Given the description of an element on the screen output the (x, y) to click on. 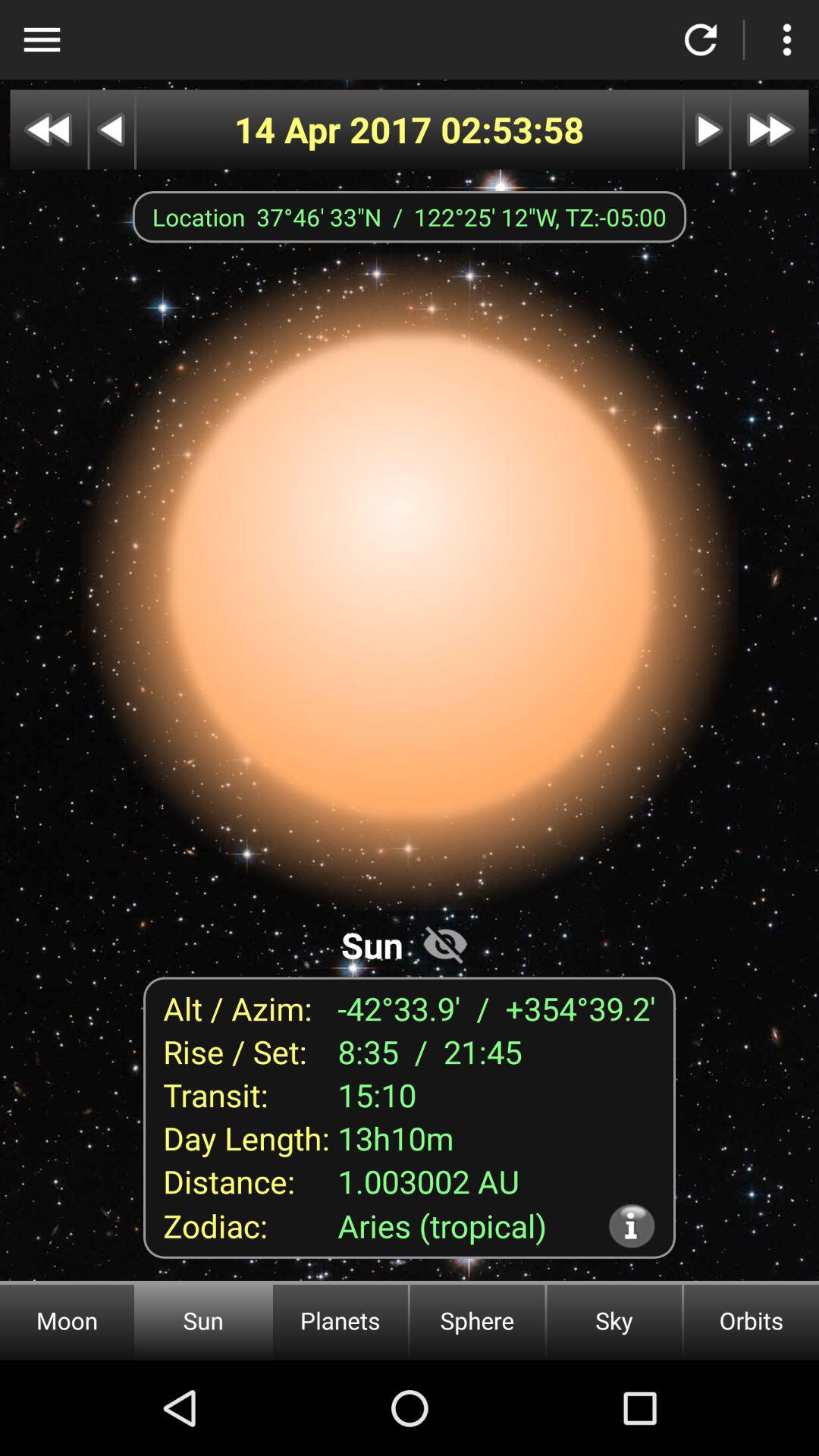
toggle visibility (445, 943)
